Given the description of an element on the screen output the (x, y) to click on. 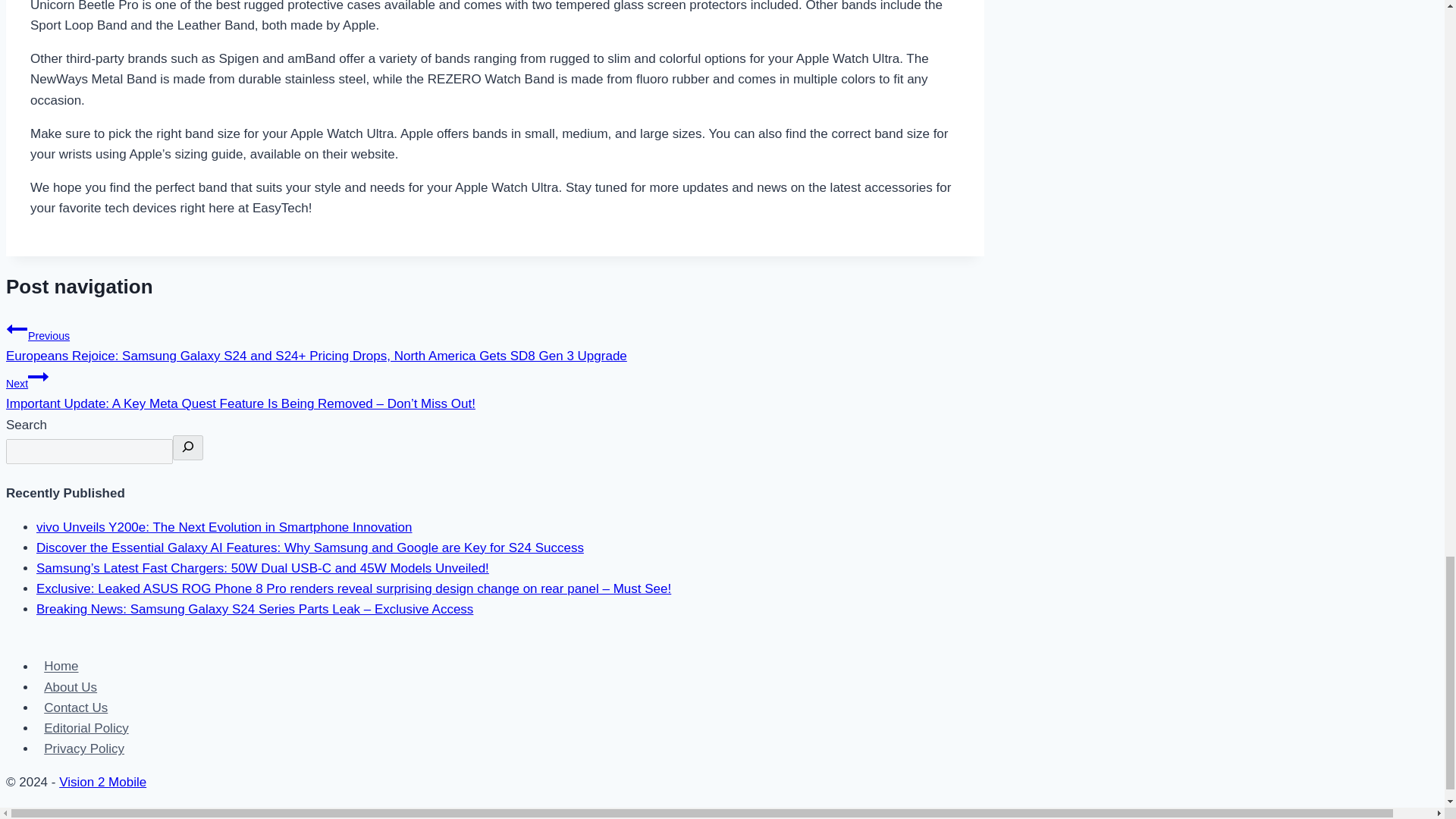
Previous (16, 328)
Editorial Policy (86, 728)
Continue (37, 376)
Contact Us (75, 707)
Privacy Policy (84, 748)
Home (60, 666)
Vision 2 Mobile (103, 781)
About Us (70, 687)
